Given the description of an element on the screen output the (x, y) to click on. 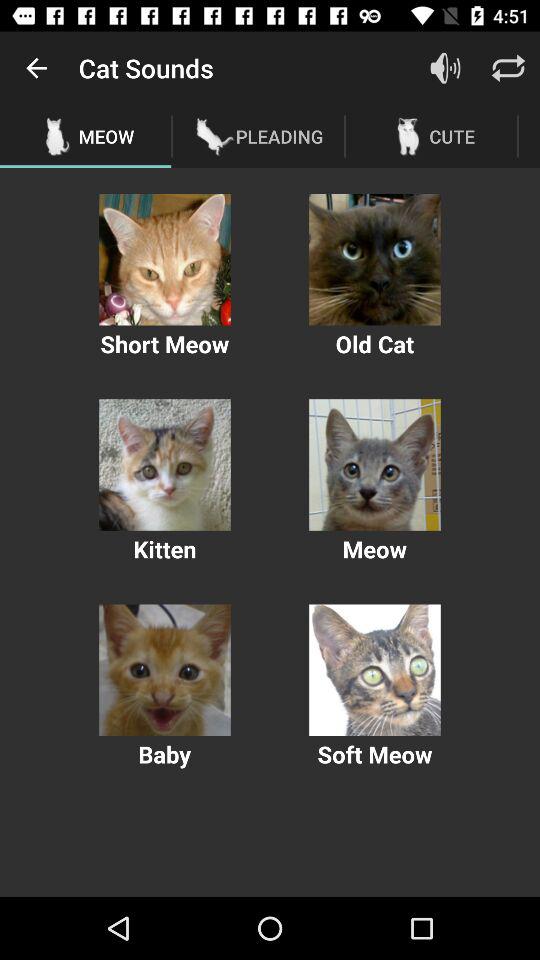
play baby cat sound (164, 669)
